Given the description of an element on the screen output the (x, y) to click on. 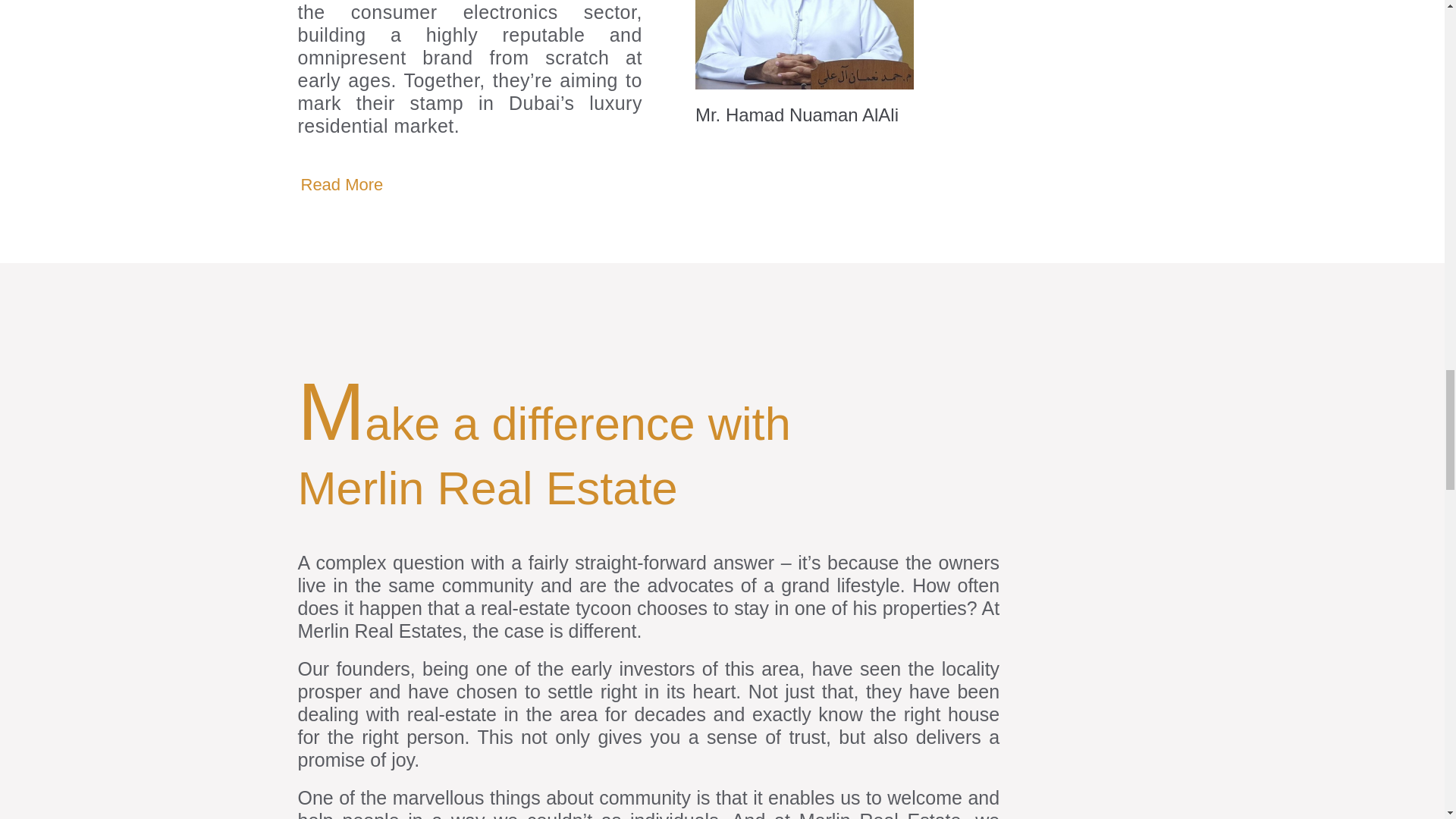
Read More (341, 184)
